Given the description of an element on the screen output the (x, y) to click on. 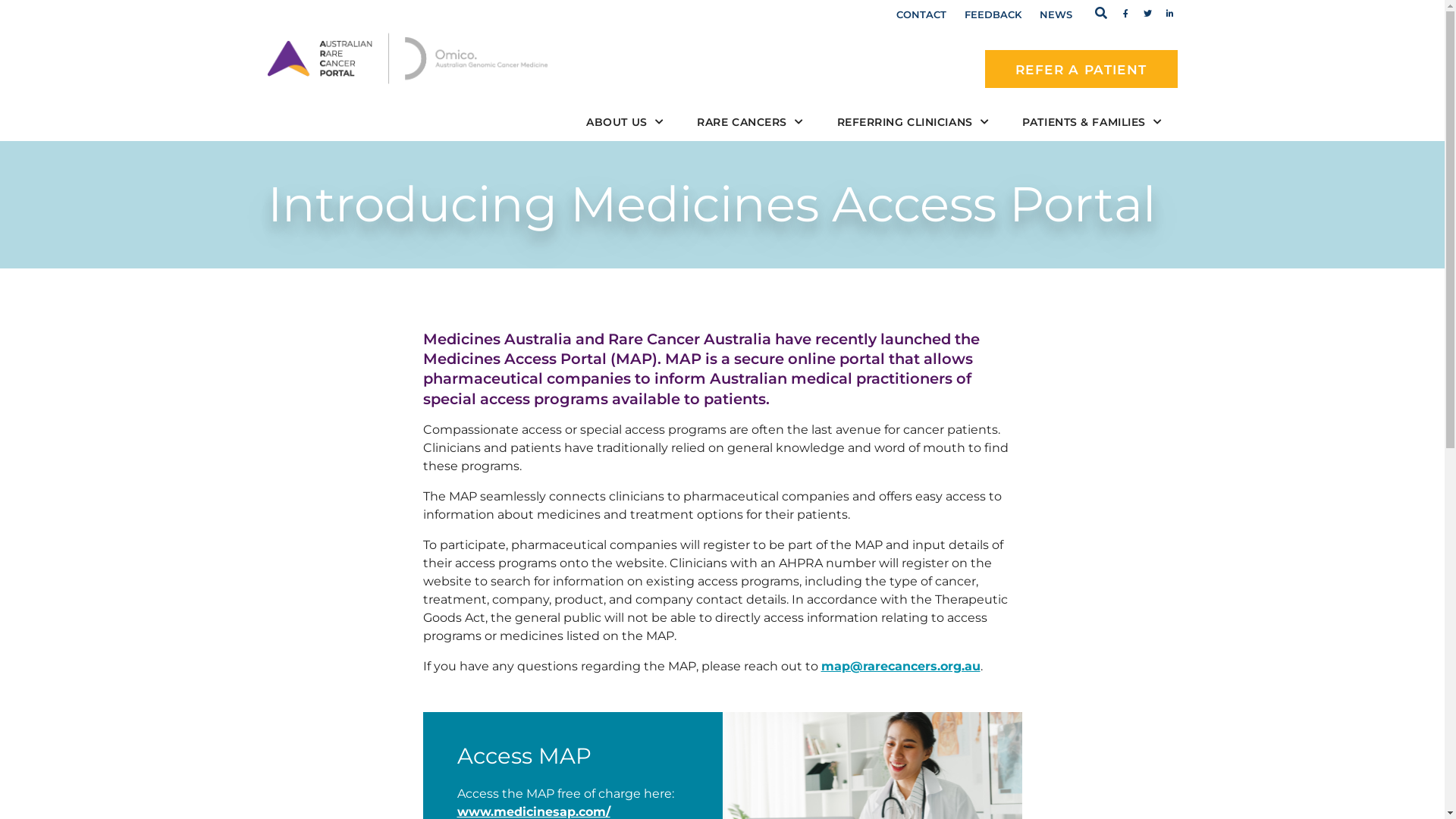
RARE CANCERS Element type: text (749, 122)
map@rarecancers.org.au Element type: text (899, 665)
NEWS Element type: text (1054, 14)
FEEDBACK Element type: text (992, 14)
CONTACT Element type: text (921, 14)
REFER A PATIENT Element type: text (1080, 68)
PATIENTS & FAMILIES Element type: text (1091, 122)
REFERRING CLINICIANS Element type: text (913, 122)
ABOUT US Element type: text (624, 122)
